Given the description of an element on the screen output the (x, y) to click on. 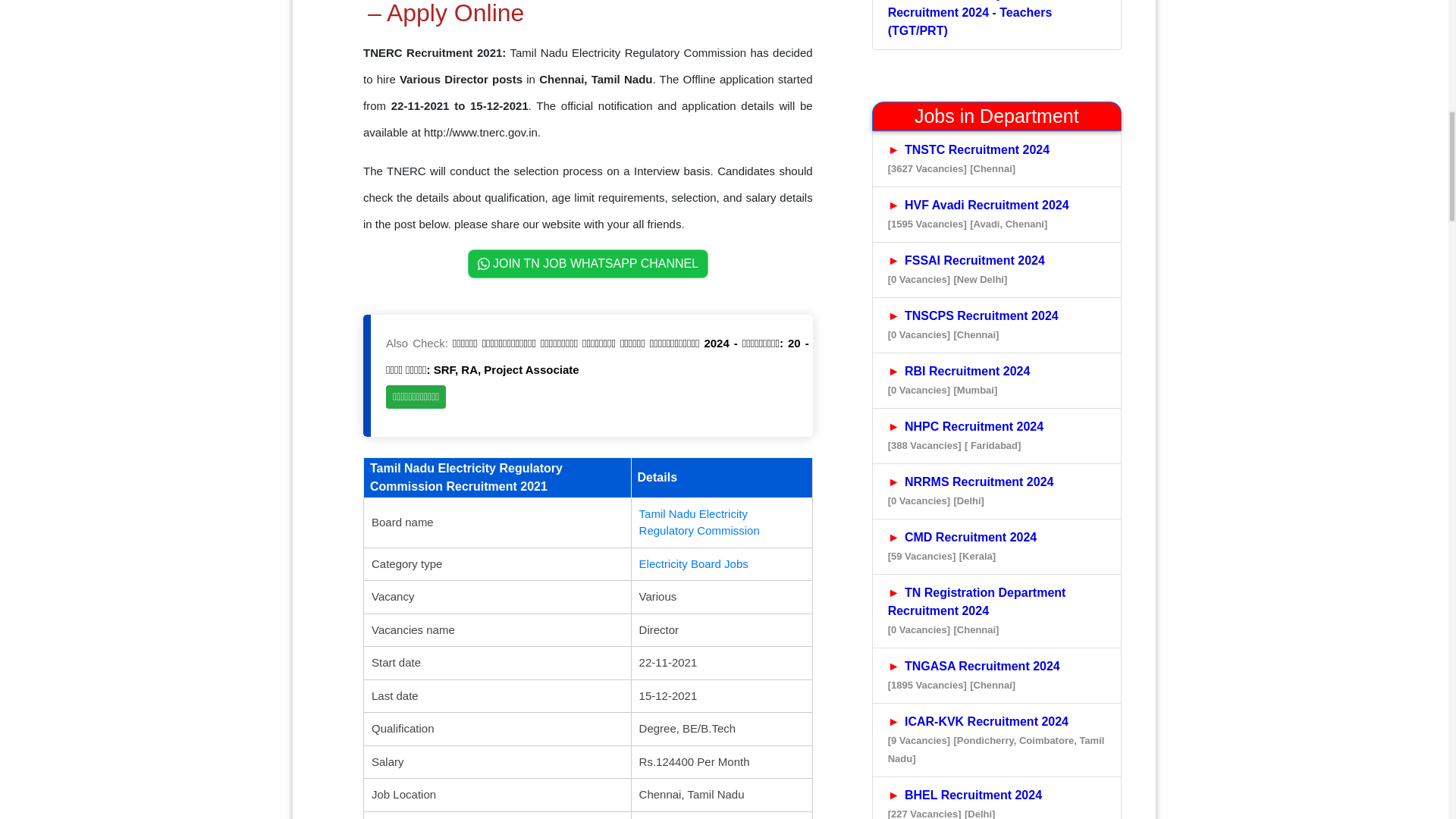
JOIN TN JOB WHATSAPP CHANNEL (588, 263)
Electricity Board Jobs (693, 563)
Tamil Nadu Electricity Regulatory Commission (699, 521)
